Given the description of an element on the screen output the (x, y) to click on. 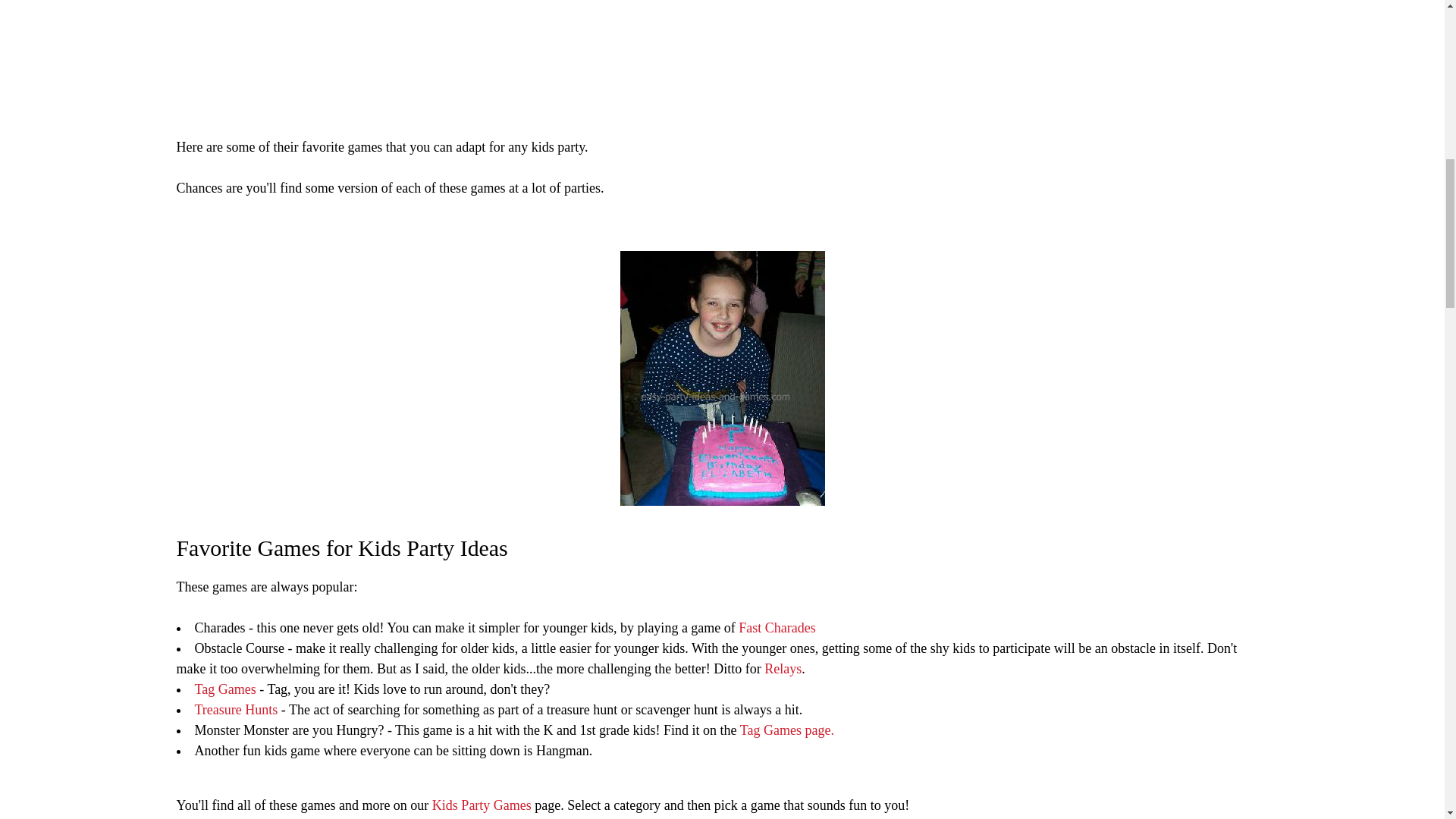
Advertisement (631, 41)
